Given the description of an element on the screen output the (x, y) to click on. 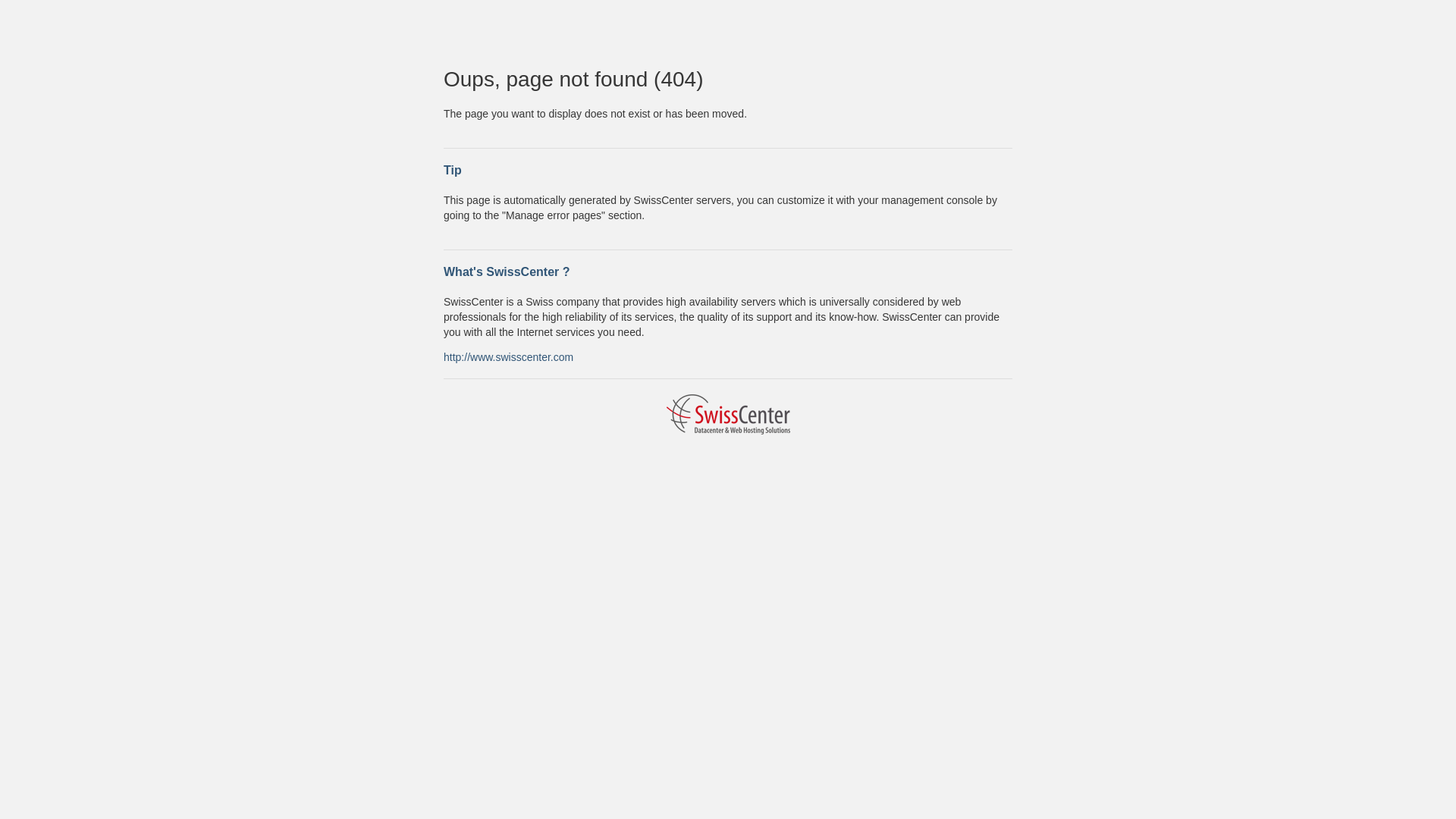
http://www.swisscenter.com Element type: text (508, 356)
